Given the description of an element on the screen output the (x, y) to click on. 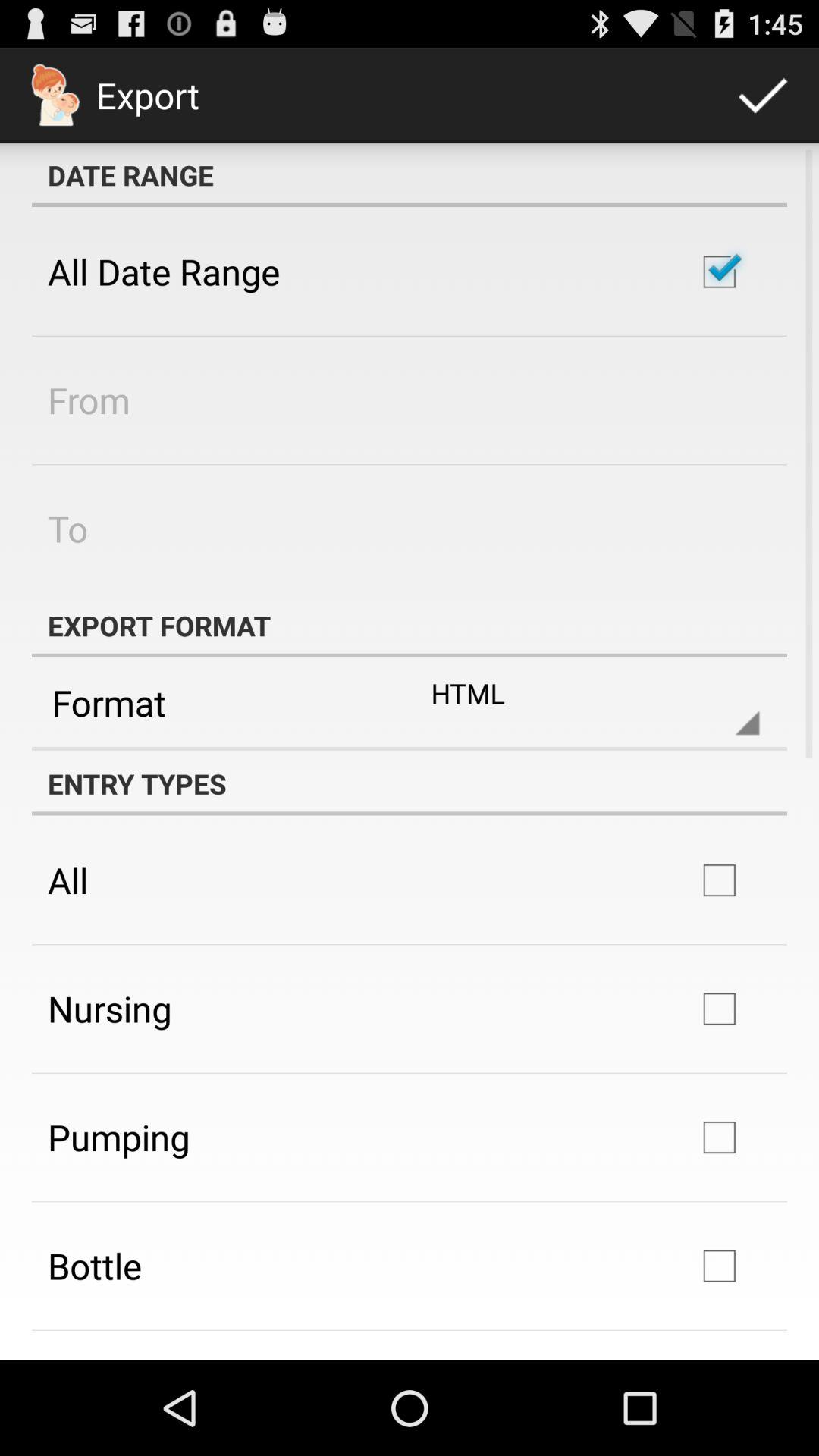
click the from item (88, 399)
